Given the description of an element on the screen output the (x, y) to click on. 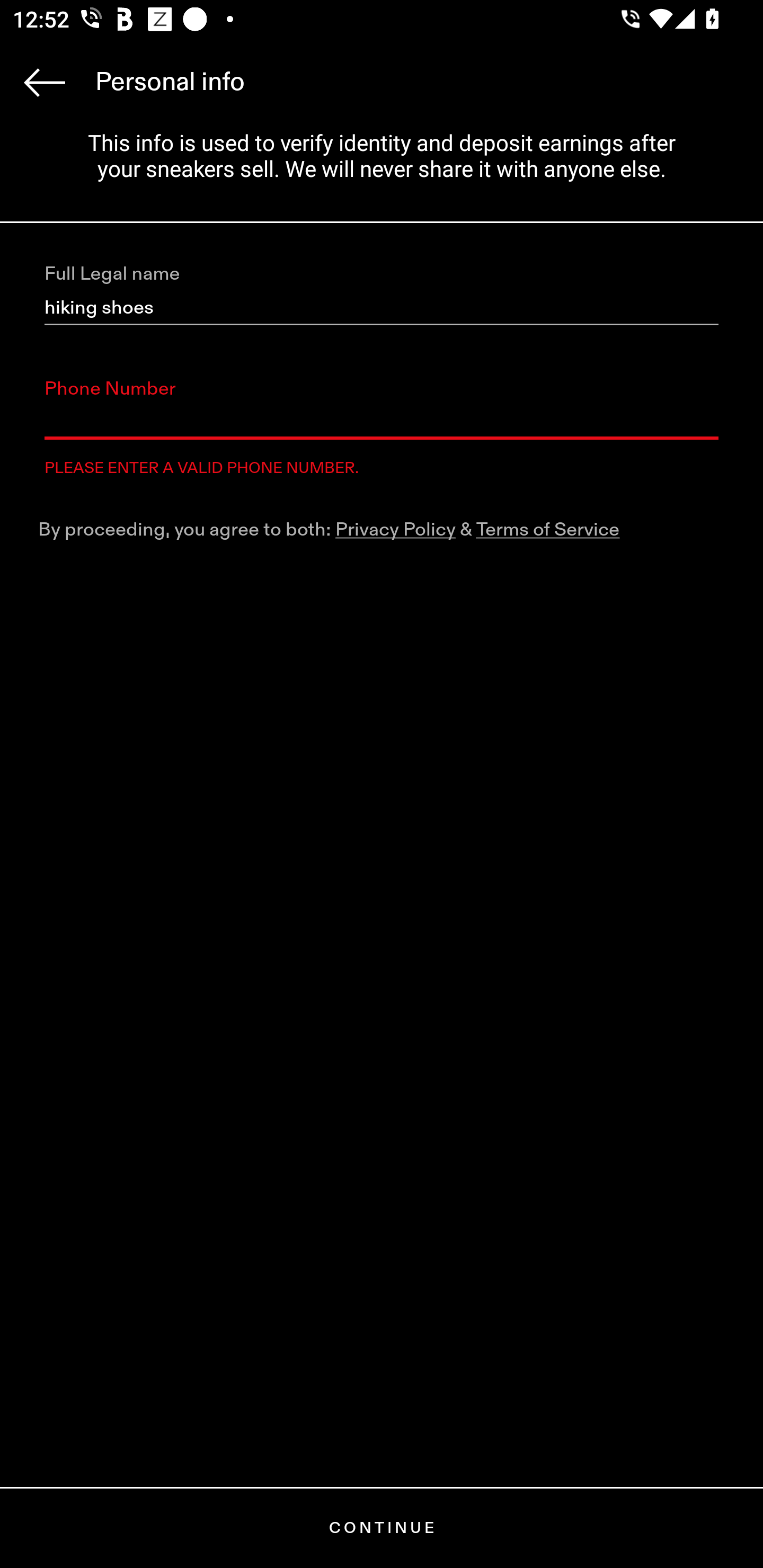
Navigate up (44, 82)
hiking shoes (381, 308)
Phone Number (381, 422)
CONTINUE (381, 1528)
